Given the description of an element on the screen output the (x, y) to click on. 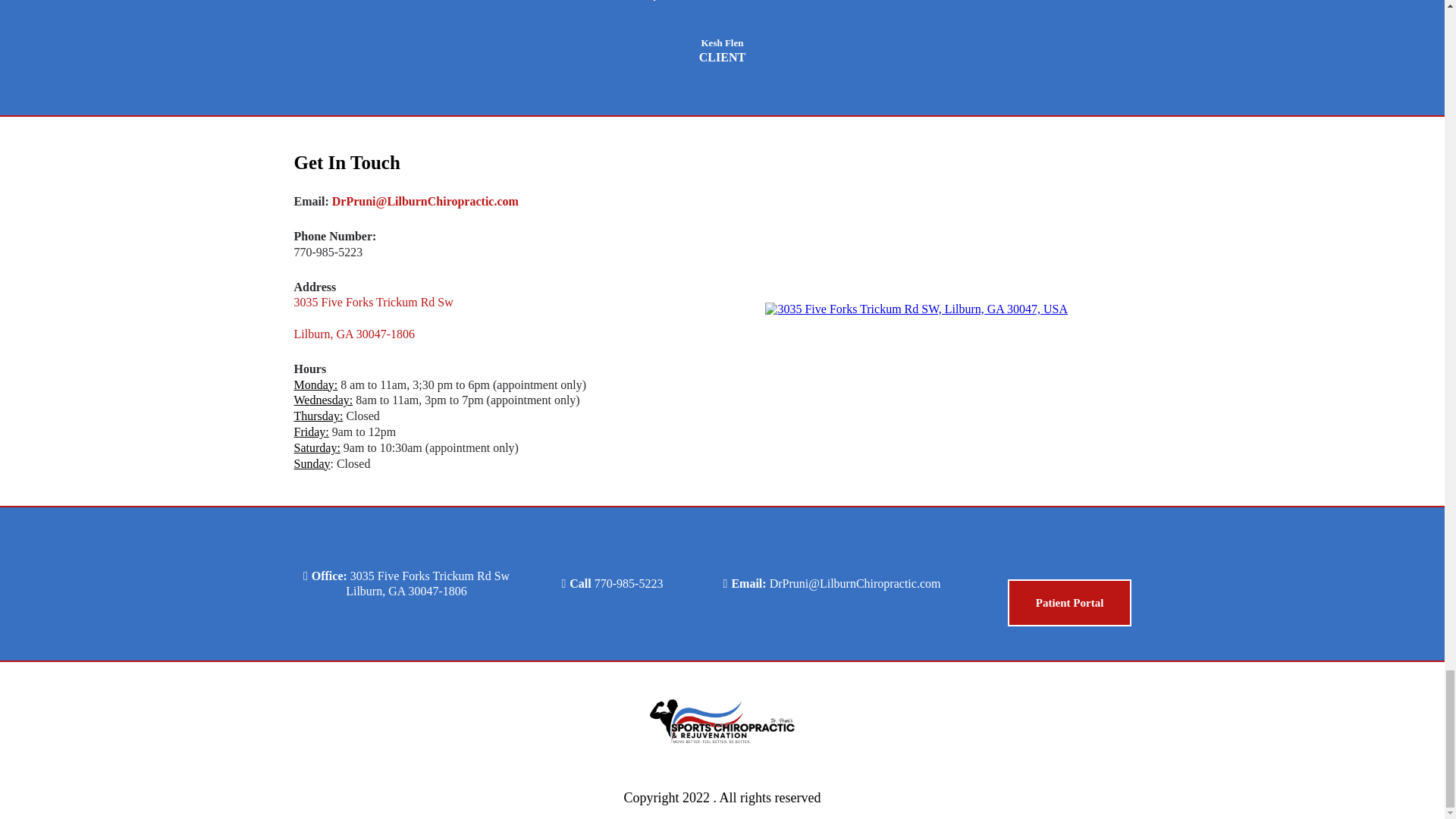
Lilburn, GA 30047-1806 (354, 333)
3035 Five Forks Trickum Rd Sw (373, 301)
Patient Portal (1069, 602)
3035 Five Forks Trickum Rd Sw Lilburn, GA 30047-1806 (427, 583)
